Given the description of an element on the screen output the (x, y) to click on. 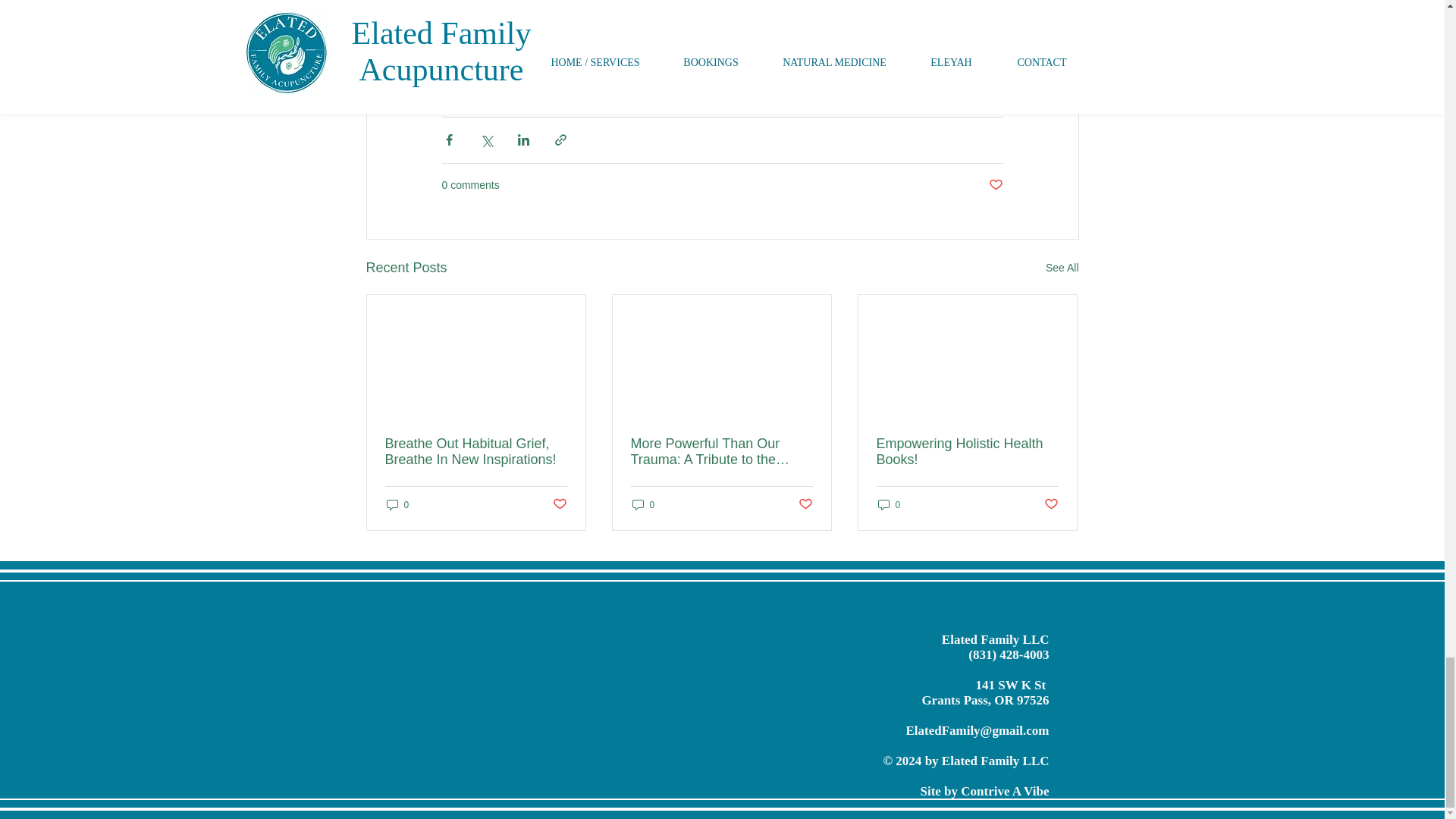
Empowering Holistic Health Books! (967, 451)
0 (643, 504)
Post not marked as liked (1050, 504)
0 (889, 504)
See All (1061, 268)
Breathe Out Habitual Grief, Breathe In New Inspirations! (476, 451)
0 (397, 504)
Post not marked as liked (995, 185)
Post not marked as liked (804, 504)
